Given the description of an element on the screen output the (x, y) to click on. 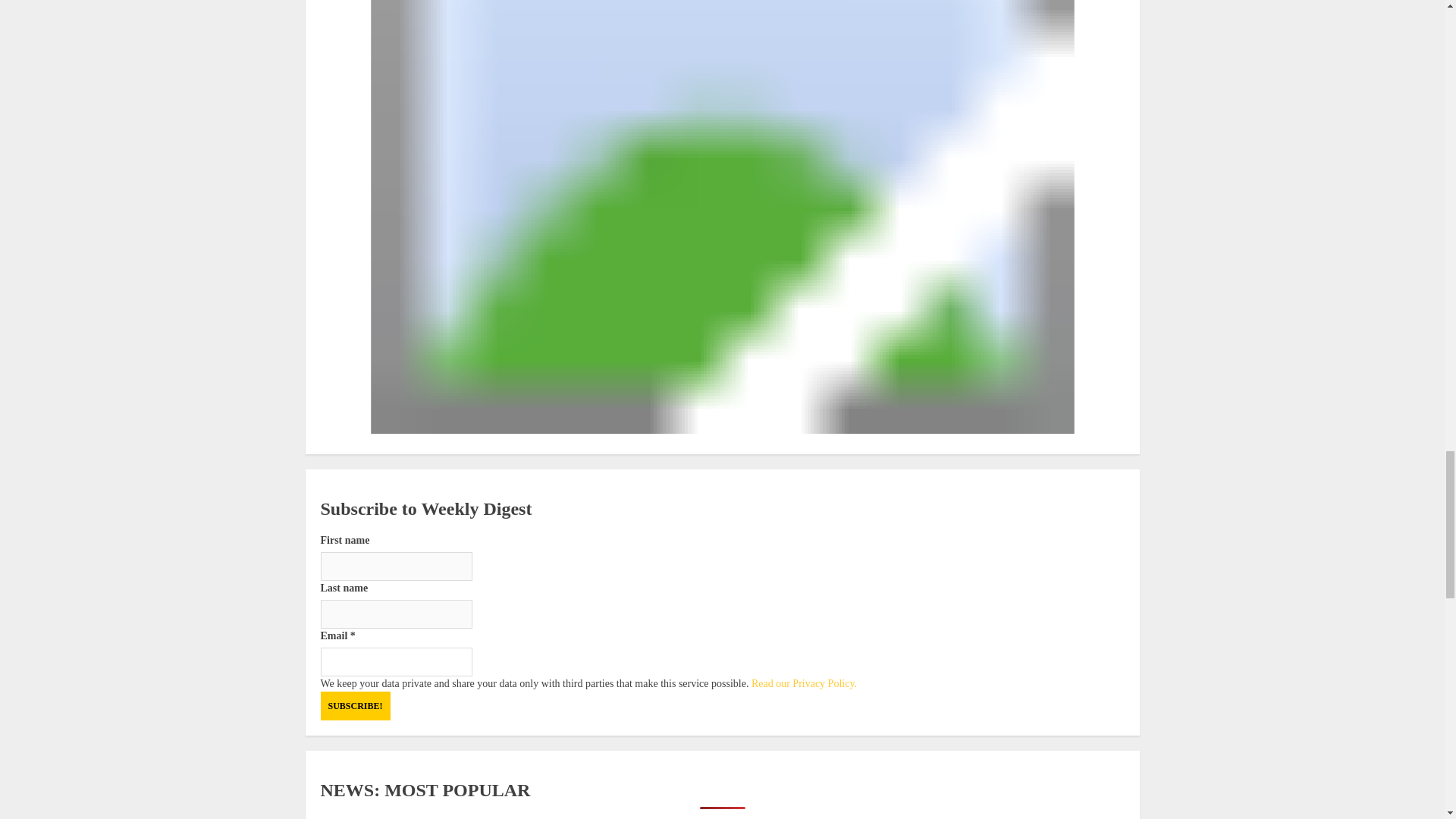
Subscribe! (355, 705)
